Given the description of an element on the screen output the (x, y) to click on. 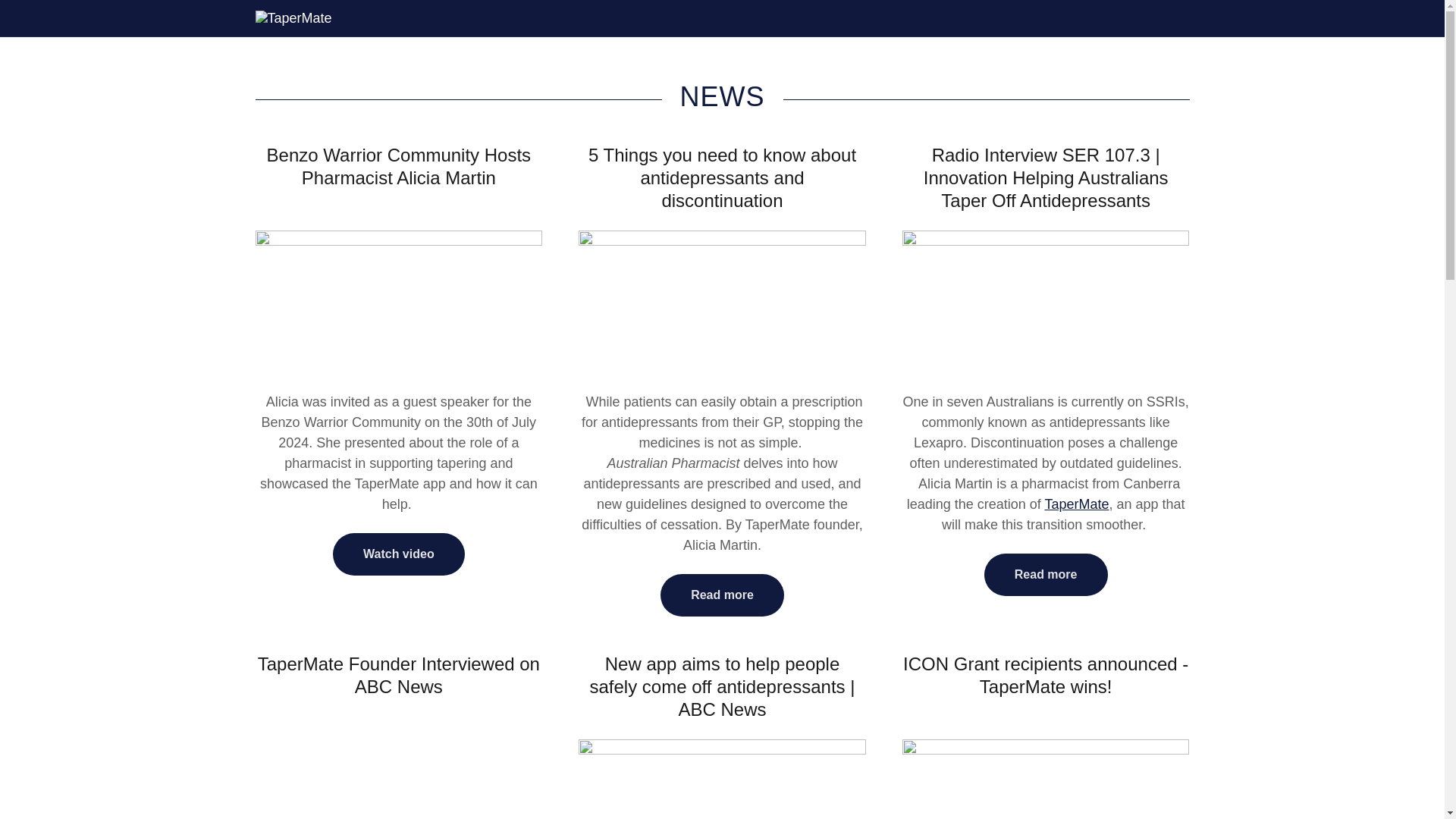
TaperMate (1075, 503)
Read more (722, 595)
Read more (1046, 574)
TaperMate (292, 17)
Watch video (398, 554)
